Given the description of an element on the screen output the (x, y) to click on. 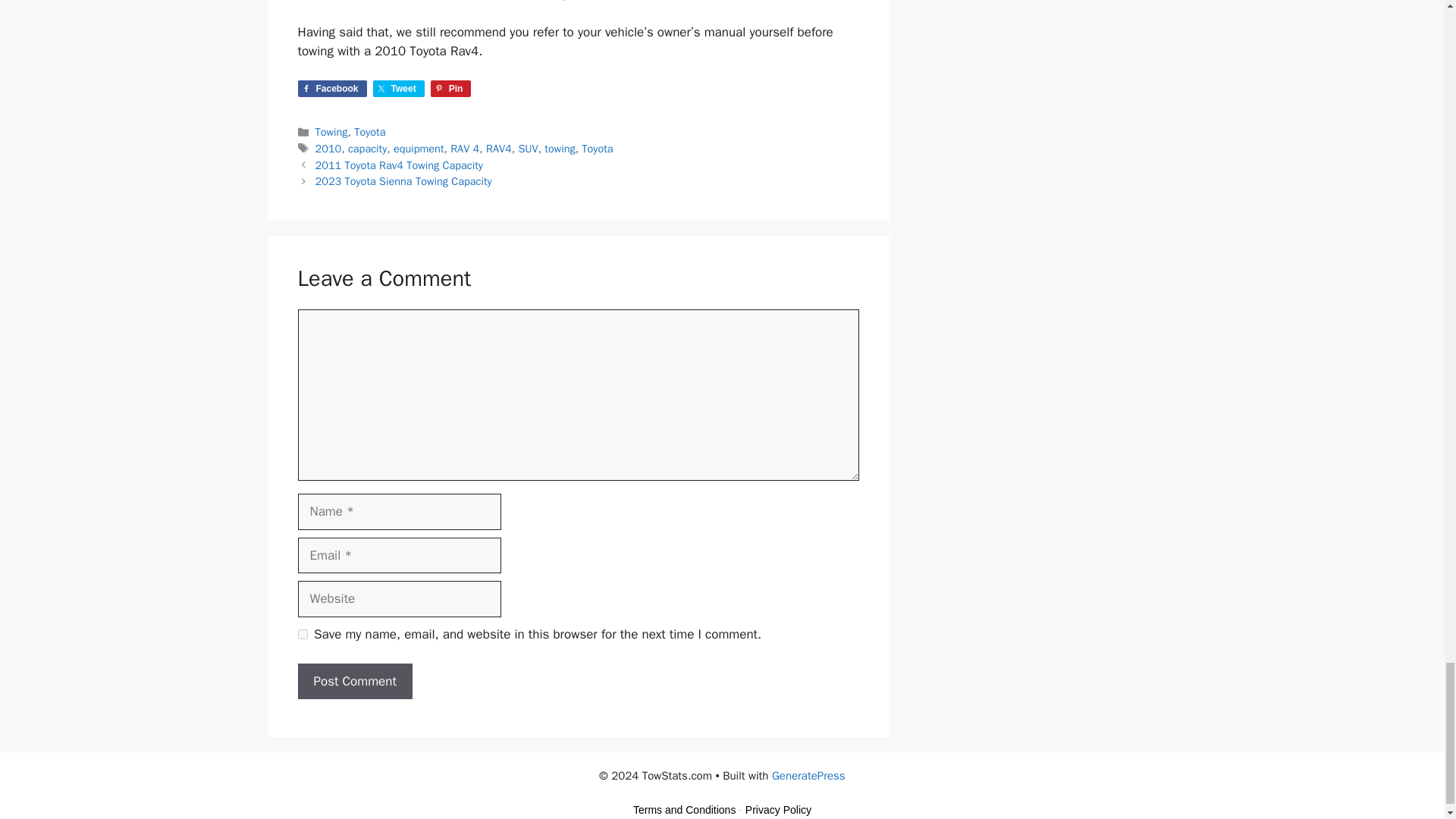
yes (302, 634)
Share on Pinterest (450, 88)
2010 (328, 148)
RAV4 (499, 148)
equipment (418, 148)
Share on Twitter (398, 88)
Toyota (369, 131)
RAV 4 (464, 148)
Pin (450, 88)
Towing (331, 131)
Tweet (398, 88)
Facebook (331, 88)
capacity (367, 148)
Post Comment (354, 681)
Share on Facebook (331, 88)
